Given the description of an element on the screen output the (x, y) to click on. 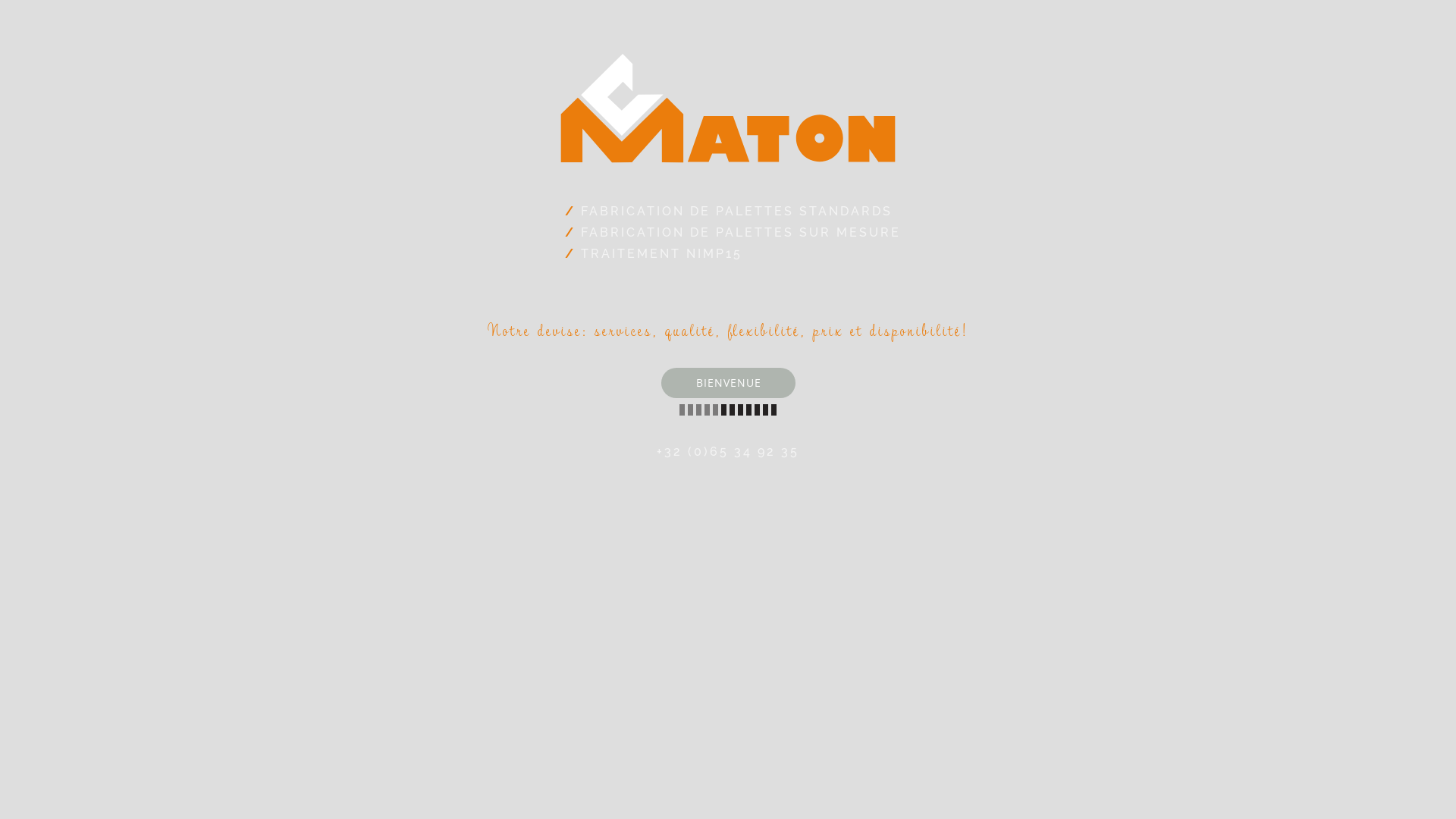
BIENVENUE Element type: text (728, 382)
